Given the description of an element on the screen output the (x, y) to click on. 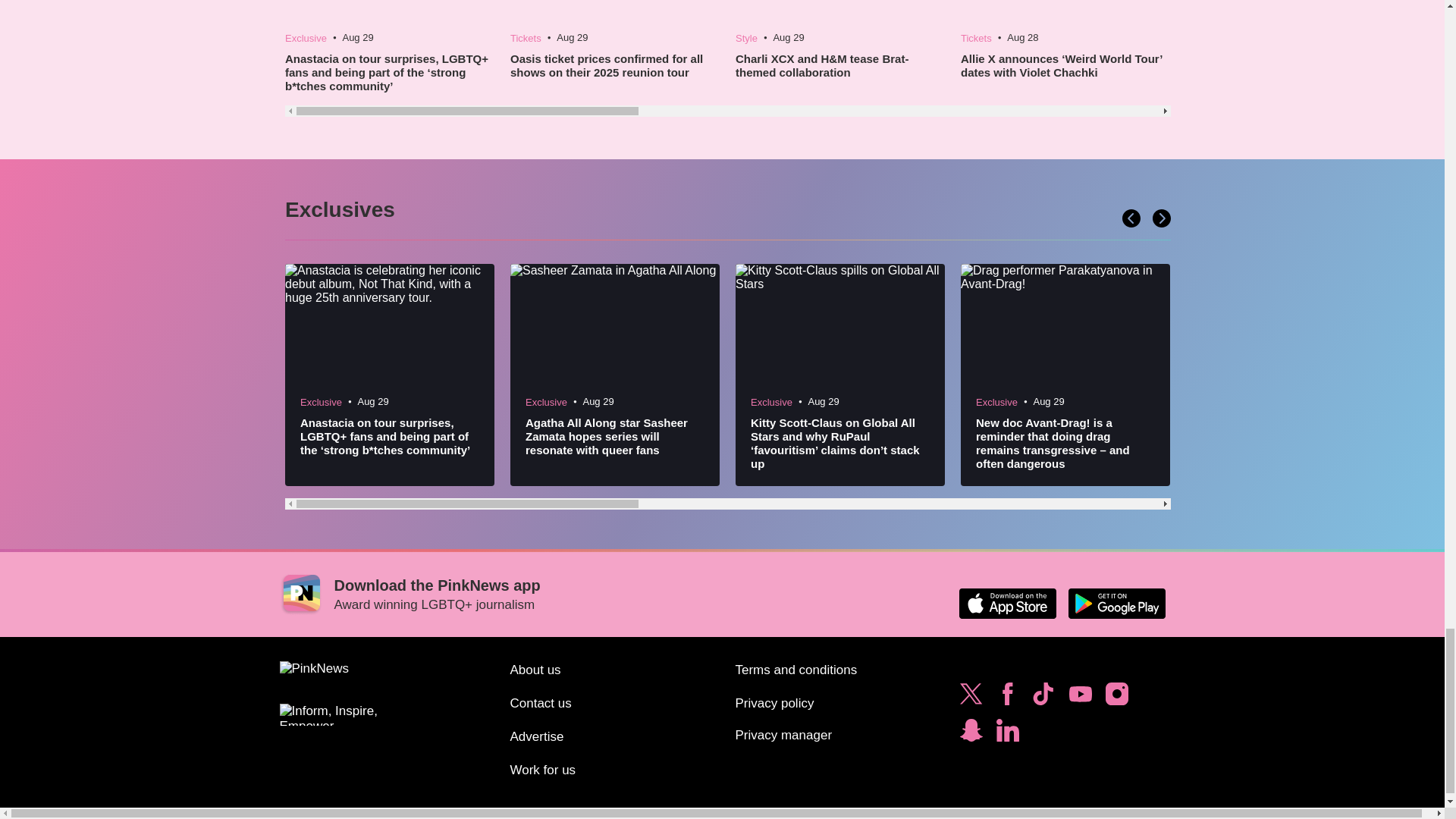
Follow PinkNews on TikTok (1042, 697)
Subscribe to PinkNews on Snapchat (970, 733)
Follow PinkNews on LinkedIn (1007, 733)
Download the PinkNews app on the Apple App Store (1006, 603)
Subscribe to PinkNews on YouTube (1079, 697)
Follow PinkNews on Instagram (1116, 697)
Follow PinkNews on Twitter (970, 697)
Download the PinkNews app on Google Play (1115, 603)
